Given the description of an element on the screen output the (x, y) to click on. 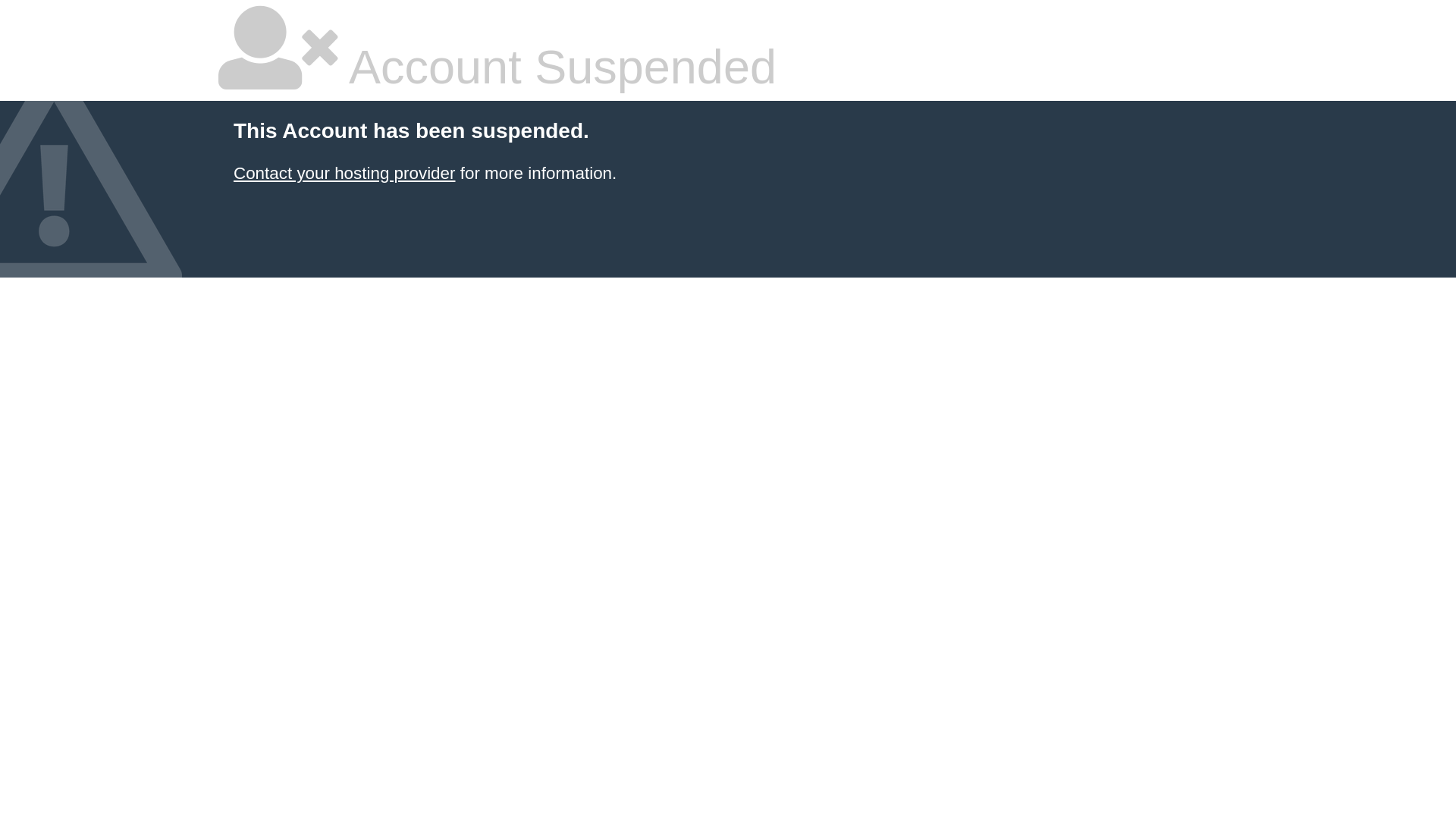
Contact your hosting provider Element type: text (344, 172)
